Given the description of an element on the screen output the (x, y) to click on. 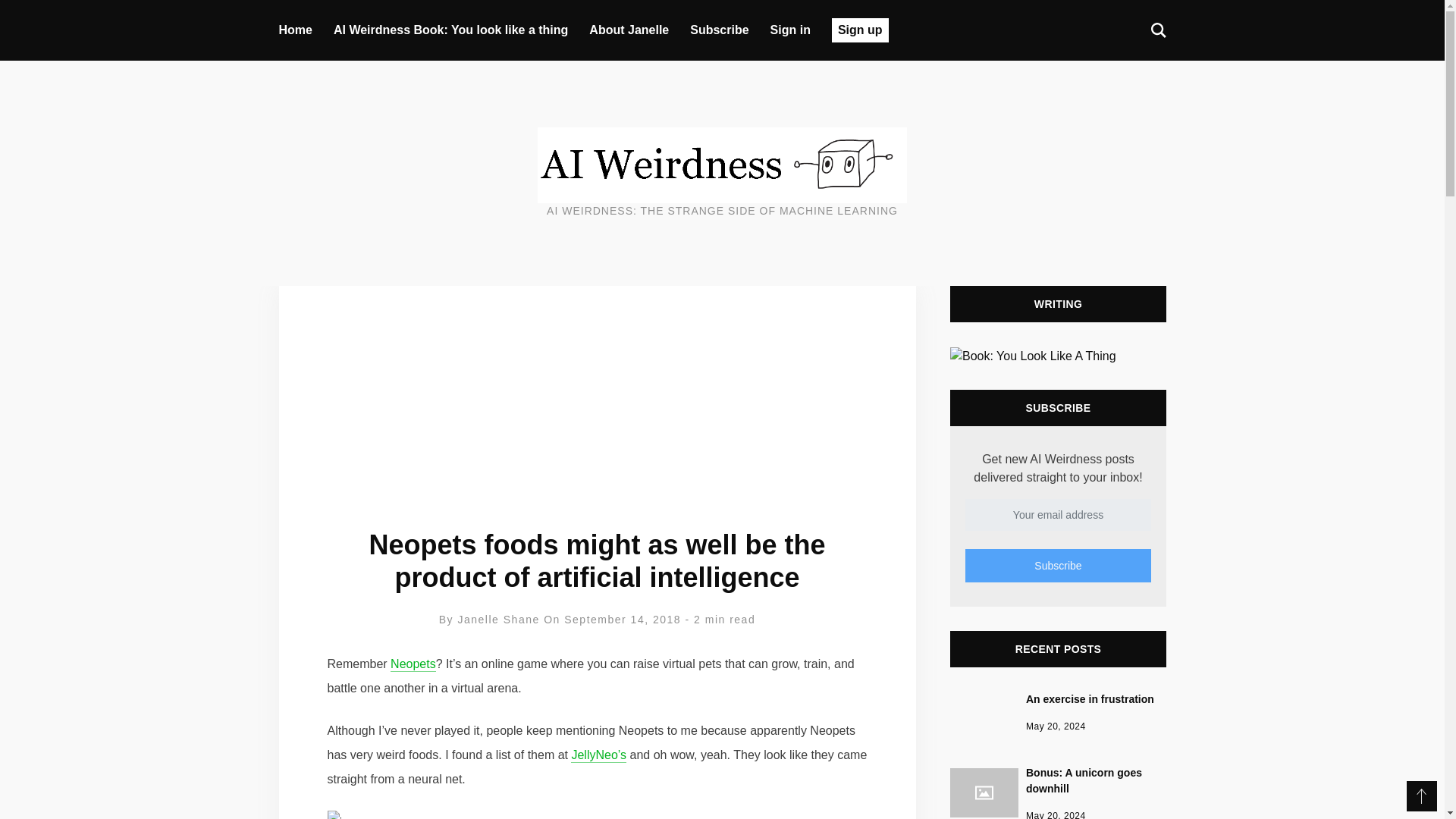
Janelle Shane (499, 619)
Subscribe (1056, 565)
Home (1057, 791)
About Janelle (296, 30)
AI Weirdness Book: You look like a thing (628, 30)
Subscribe (450, 30)
Neopets (719, 30)
Sign up (412, 663)
Sign in (859, 30)
